Given the description of an element on the screen output the (x, y) to click on. 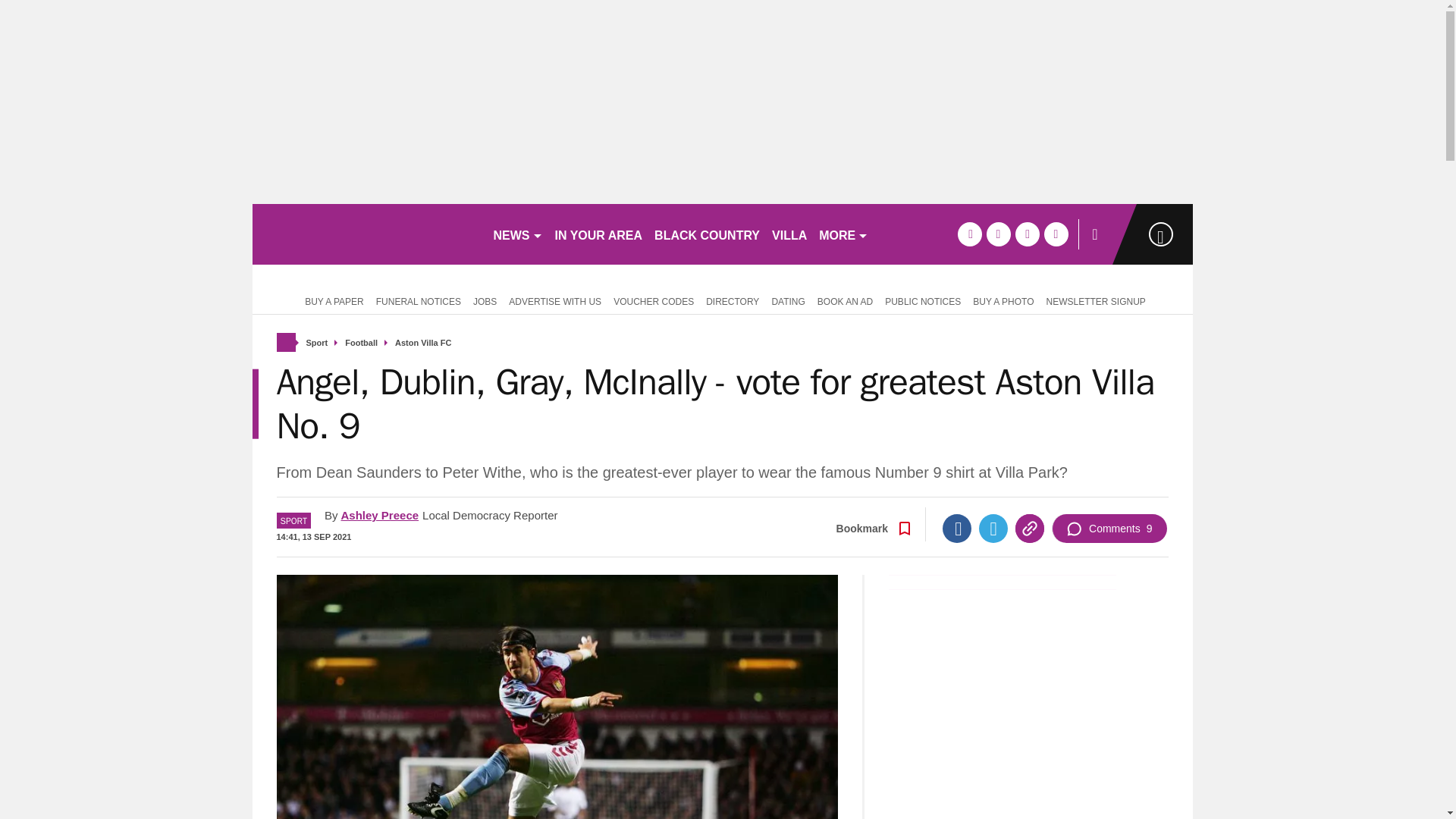
NEWS (517, 233)
birminghammail (365, 233)
IN YOUR AREA (598, 233)
twitter (997, 233)
instagram (1055, 233)
BLACK COUNTRY (706, 233)
MORE (843, 233)
tiktok (1026, 233)
Comments (1108, 528)
Facebook (956, 528)
facebook (968, 233)
Twitter (992, 528)
